Given the description of an element on the screen output the (x, y) to click on. 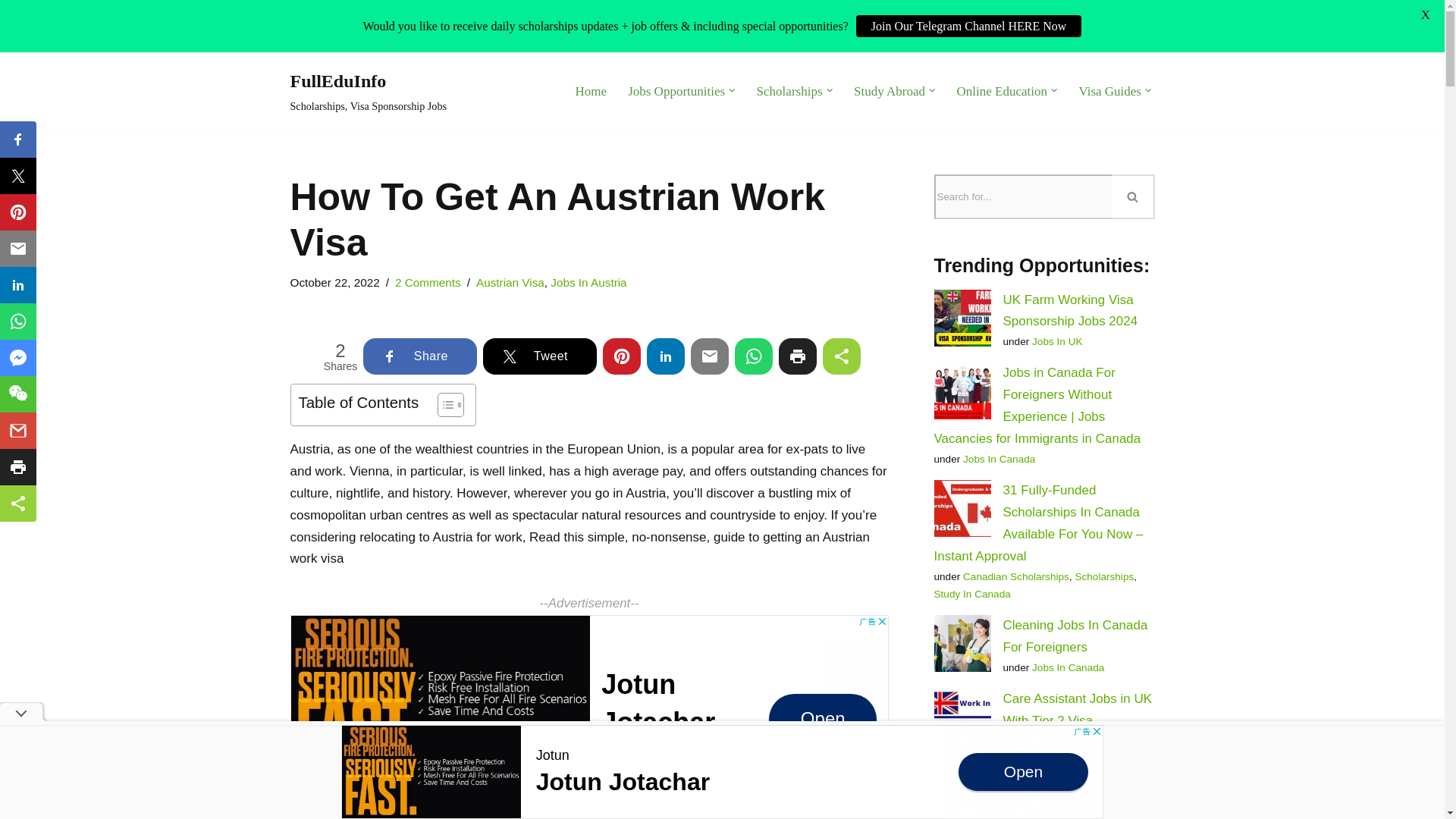
Study Abroad (367, 90)
Jobs Opportunities (888, 90)
Scholarships (676, 90)
Skip to content (789, 90)
Advertisement (11, 83)
Home (588, 717)
